Given the description of an element on the screen output the (x, y) to click on. 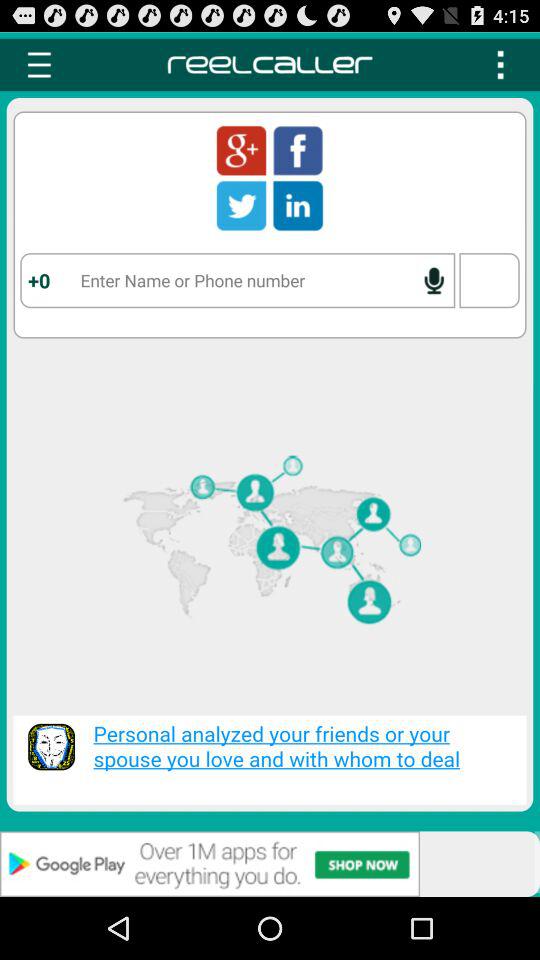
name or number field (237, 279)
